Given the description of an element on the screen output the (x, y) to click on. 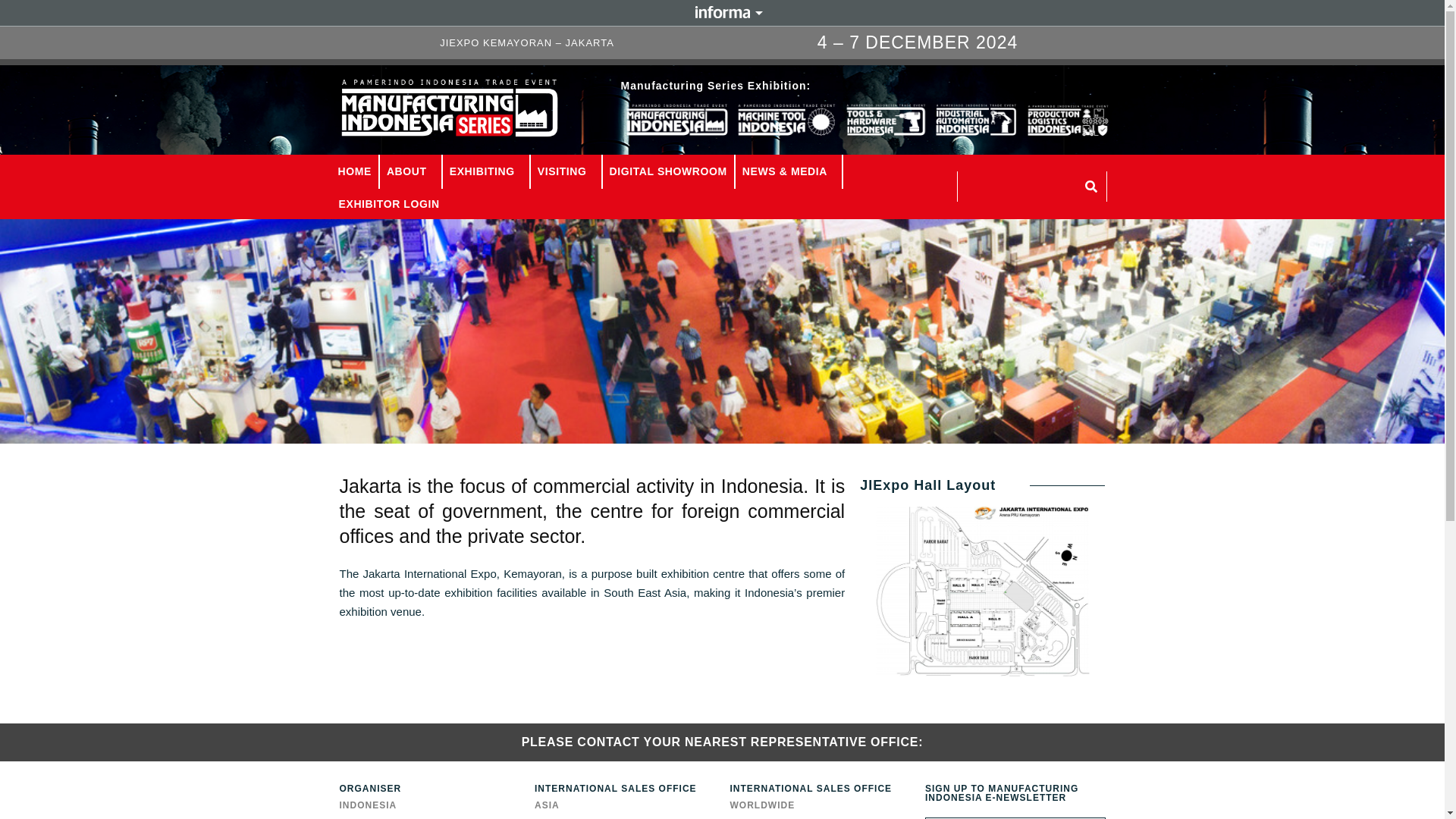
HOME (354, 171)
EXHIBITING (486, 171)
DIGITAL SHOWROOM (668, 171)
Informa (722, 11)
ABOUT (410, 171)
EXHIBITOR LOGIN (388, 204)
VISITING (565, 171)
